Given the description of an element on the screen output the (x, y) to click on. 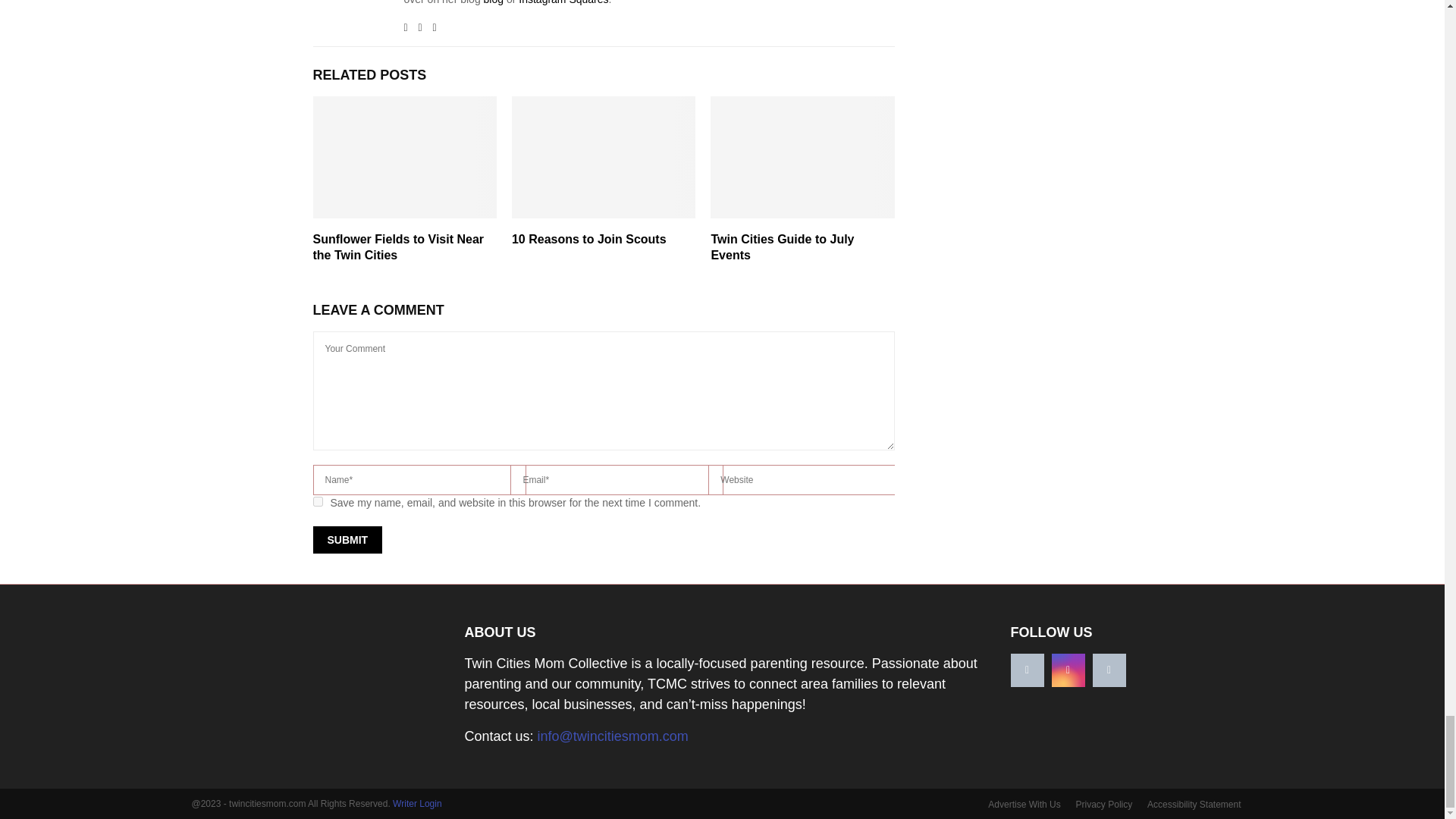
yes (317, 501)
Submit (347, 539)
